Given the description of an element on the screen output the (x, y) to click on. 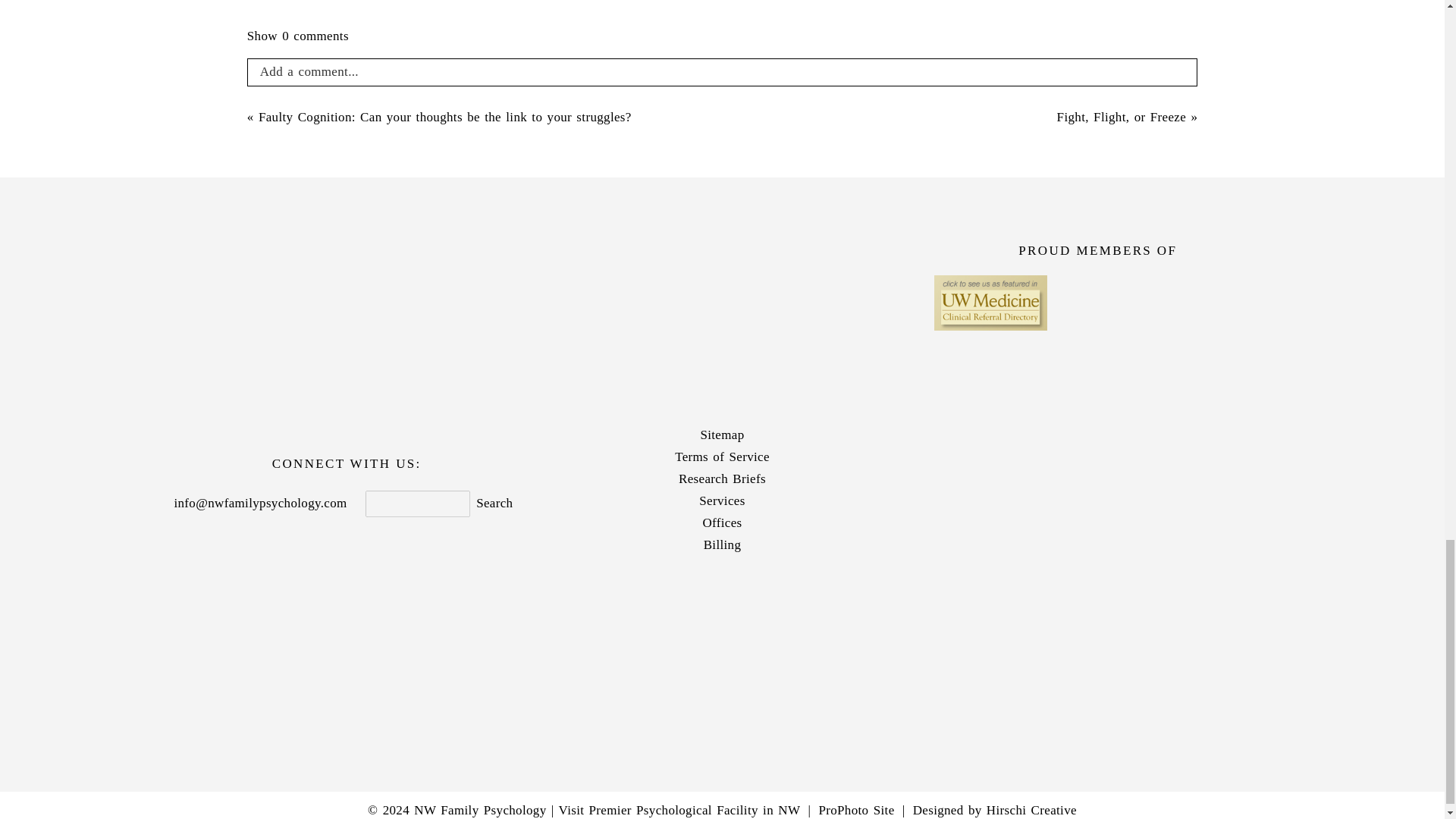
Fight, Flight, or Freeze (1121, 116)
Terms of Service (722, 457)
Search (494, 504)
Search (494, 504)
Offices (722, 523)
Billing (722, 545)
Search (494, 504)
Sitemap (722, 435)
Services (722, 501)
